Given the description of an element on the screen output the (x, y) to click on. 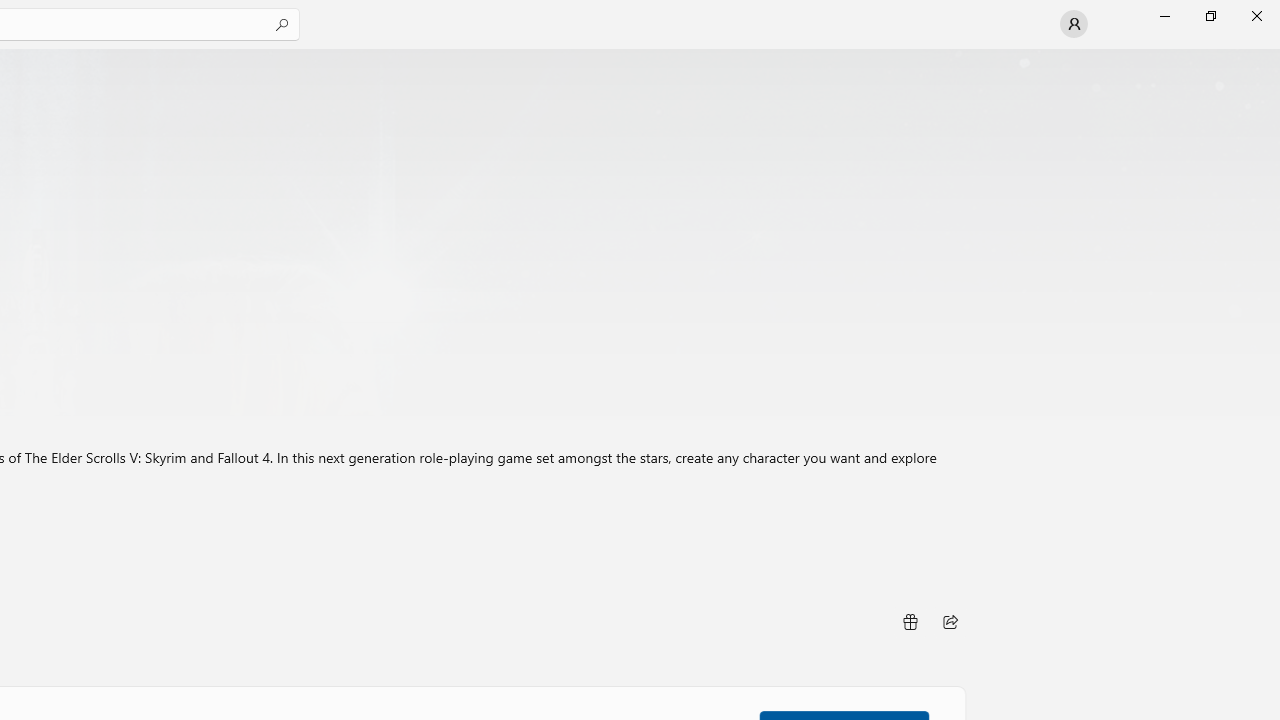
Close Microsoft Store (1256, 15)
Buy as gift (909, 621)
Restore Microsoft Store (1210, 15)
Minimize Microsoft Store (1164, 15)
Share (950, 621)
User profile (1073, 24)
